Given the description of an element on the screen output the (x, y) to click on. 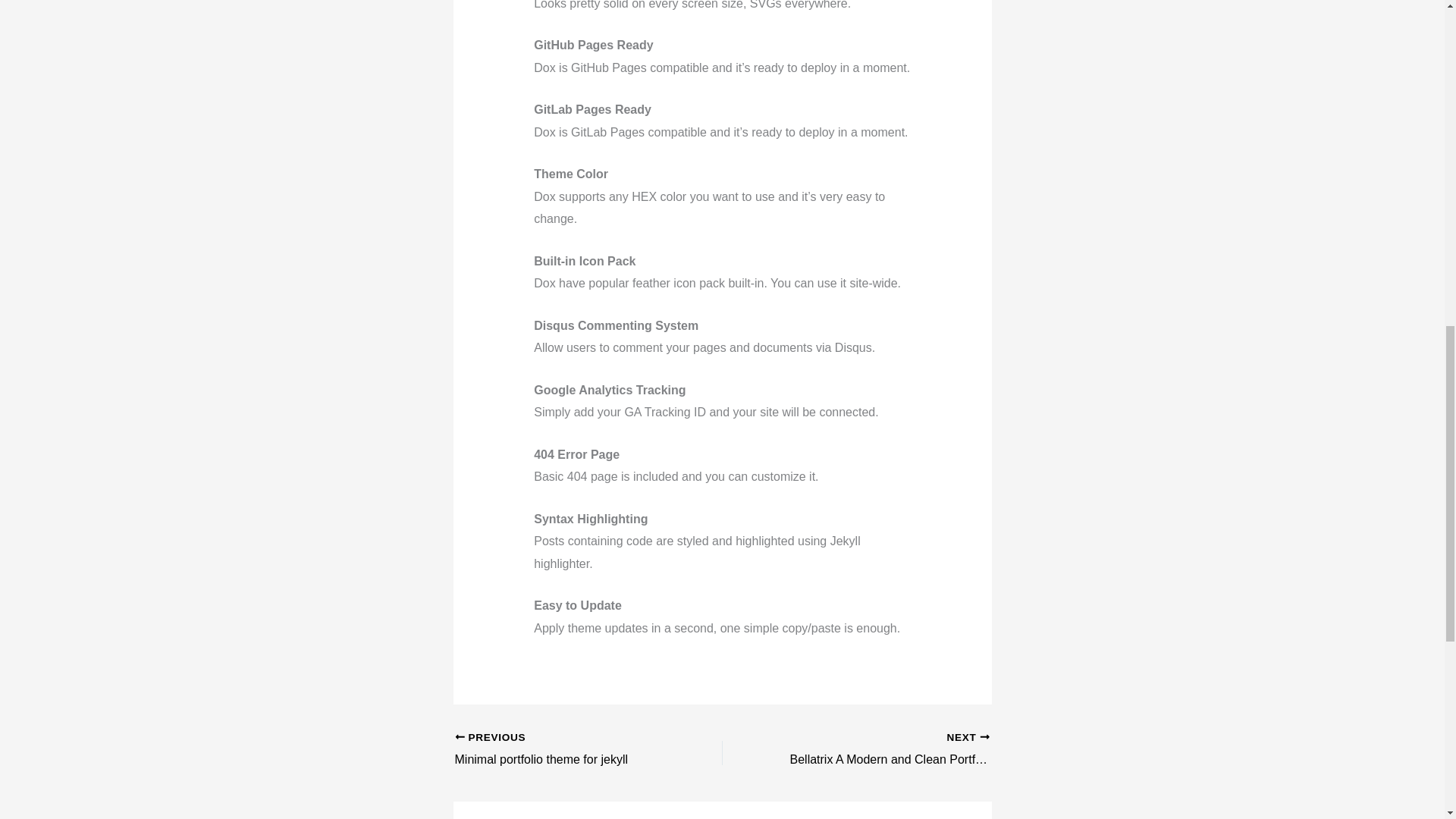
Minimal portfolio theme for jekyll (882, 749)
Bellatrix A Modern and Clean Portfolio Jekyll Theme (561, 749)
